Given the description of an element on the screen output the (x, y) to click on. 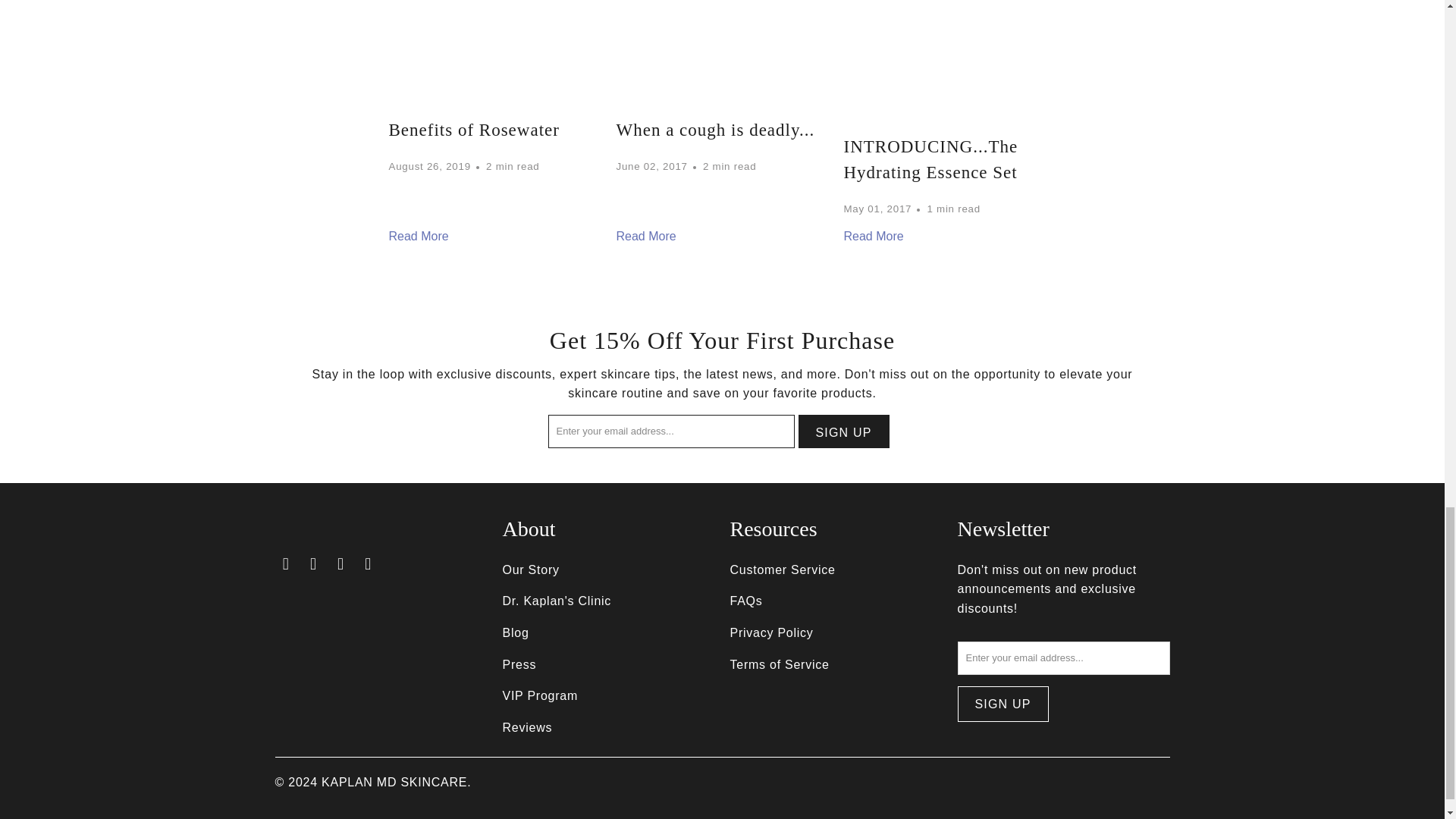
Benefits of Rosewater (473, 129)
INTRODUCING...The Hydrating Essence Set (930, 159)
Sign Up (842, 430)
When a cough is deadly... (714, 129)
Sign Up (1002, 703)
Benefits of Rosewater (418, 236)
When a cough is deadly... (645, 236)
When a cough is deadly... (721, 56)
Benefits of Rosewater (493, 56)
INTRODUCING...The Hydrating Essence Set (949, 64)
